Given the description of an element on the screen output the (x, y) to click on. 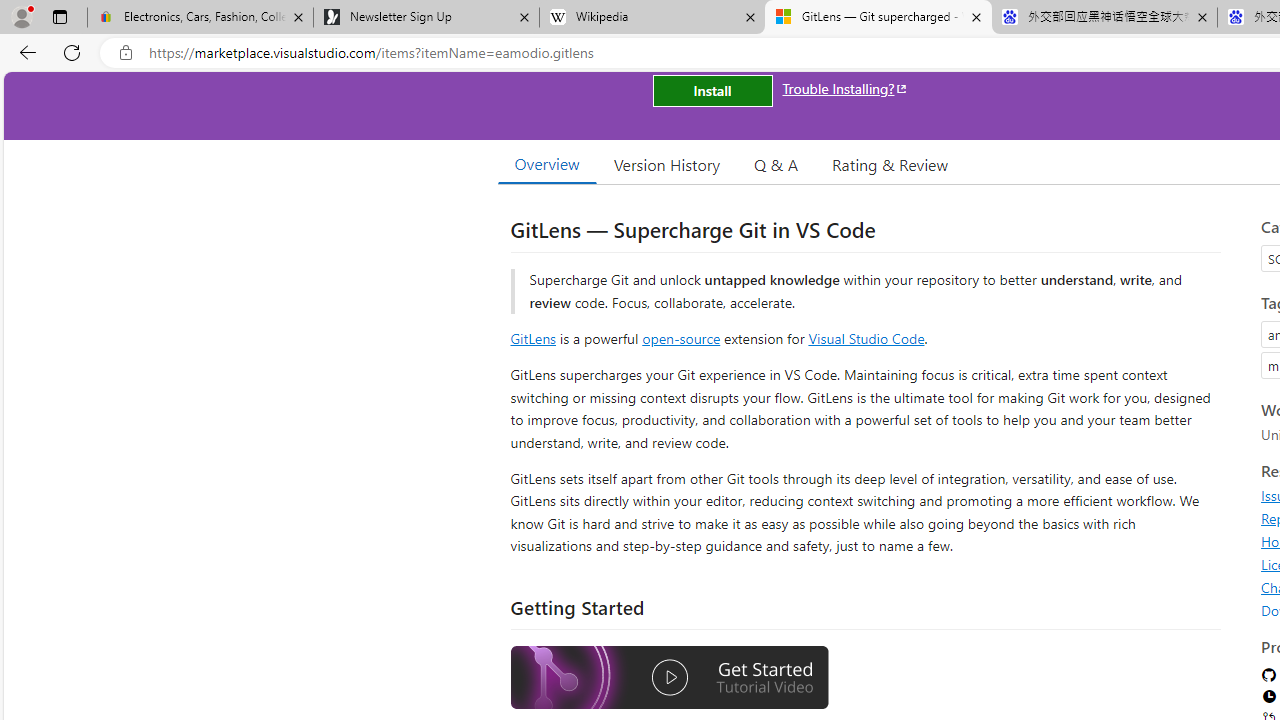
Q & A (776, 164)
Watch the GitLens Getting Started video (669, 678)
open-source (681, 337)
GitLens (532, 337)
Rating & Review (890, 164)
Newsletter Sign Up (425, 17)
